Given the description of an element on the screen output the (x, y) to click on. 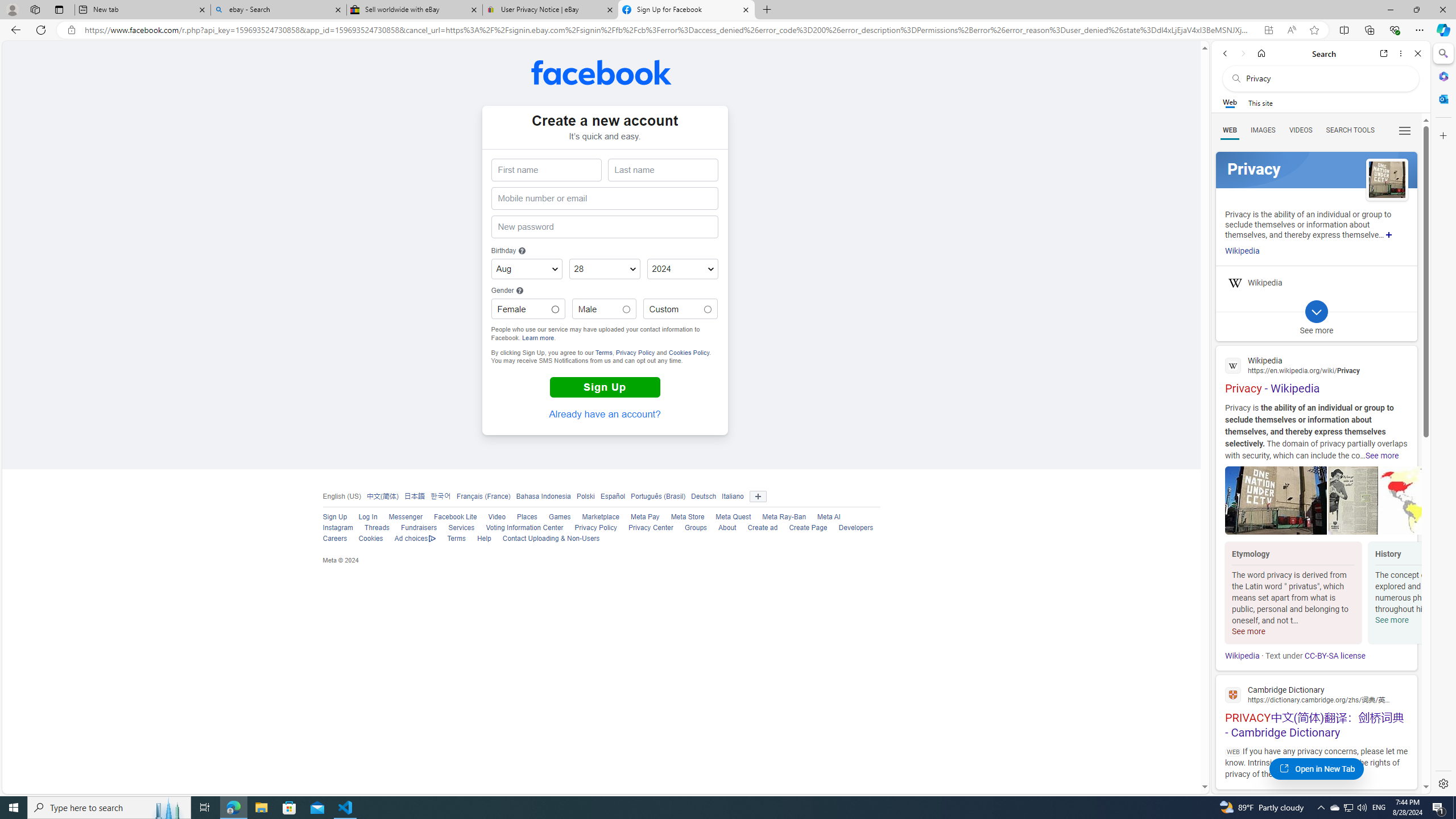
Messenger (405, 516)
Learn more (537, 337)
Ad choices (415, 538)
Groups (689, 527)
Create ad (756, 527)
Year (681, 269)
User Privacy Notice | eBay (550, 9)
Click to scroll right (1407, 594)
Month (526, 269)
Search Filter, IMAGES (1262, 129)
SEARCH TOOLS (1350, 130)
Open link in new tab (1383, 53)
